Given the description of an element on the screen output the (x, y) to click on. 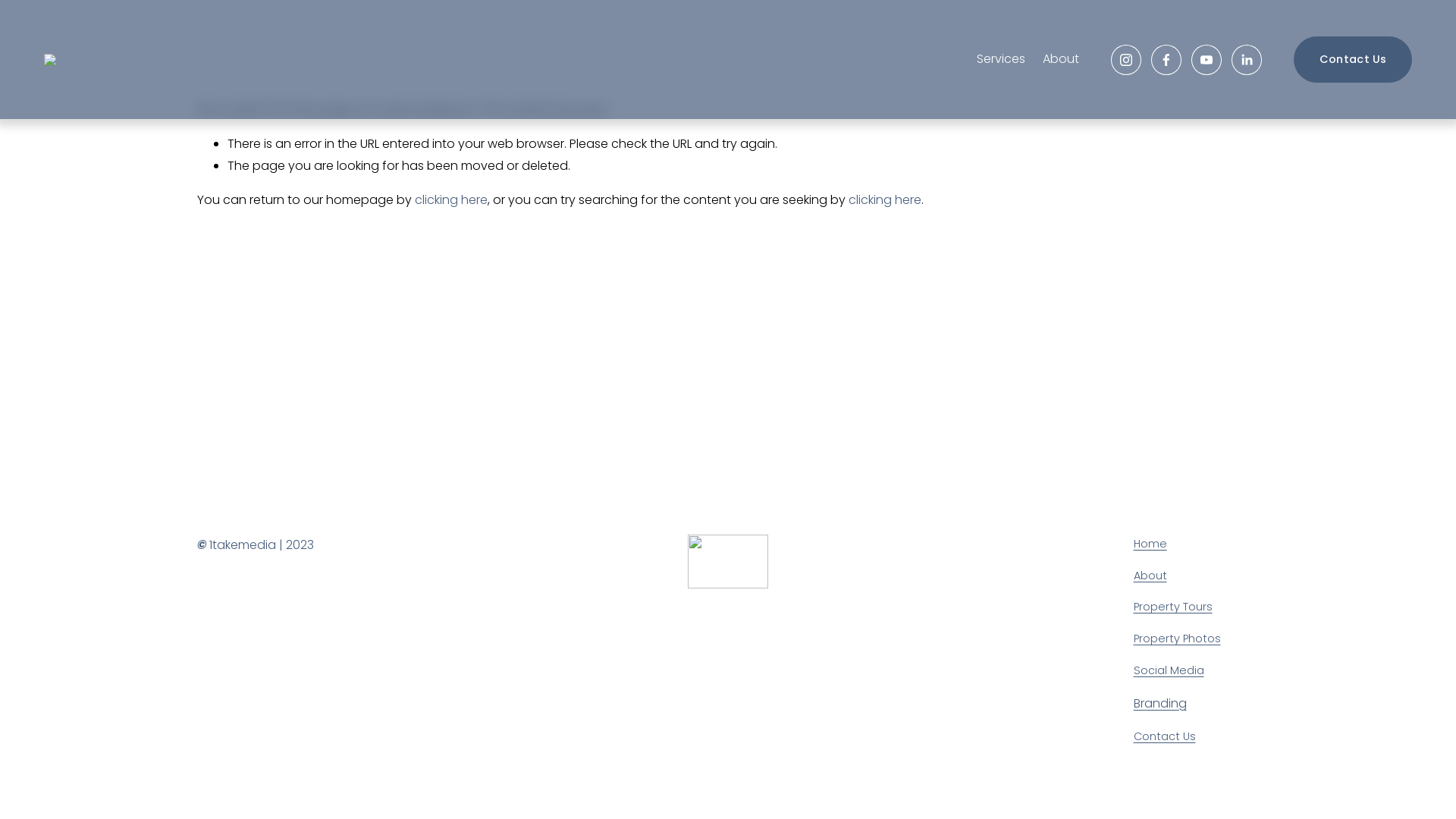
Property Photos Element type: text (1176, 639)
clicking here Element type: text (884, 199)
Property Tours Element type: text (1172, 607)
Services Element type: text (1000, 59)
Contact Us Element type: text (1352, 59)
Social Media Element type: text (1168, 670)
Branding Element type: text (1159, 704)
Contact Us Element type: text (1164, 736)
About Element type: text (1060, 59)
clicking here Element type: text (450, 199)
Home Element type: text (1150, 544)
About Element type: text (1150, 576)
